Given the description of an element on the screen output the (x, y) to click on. 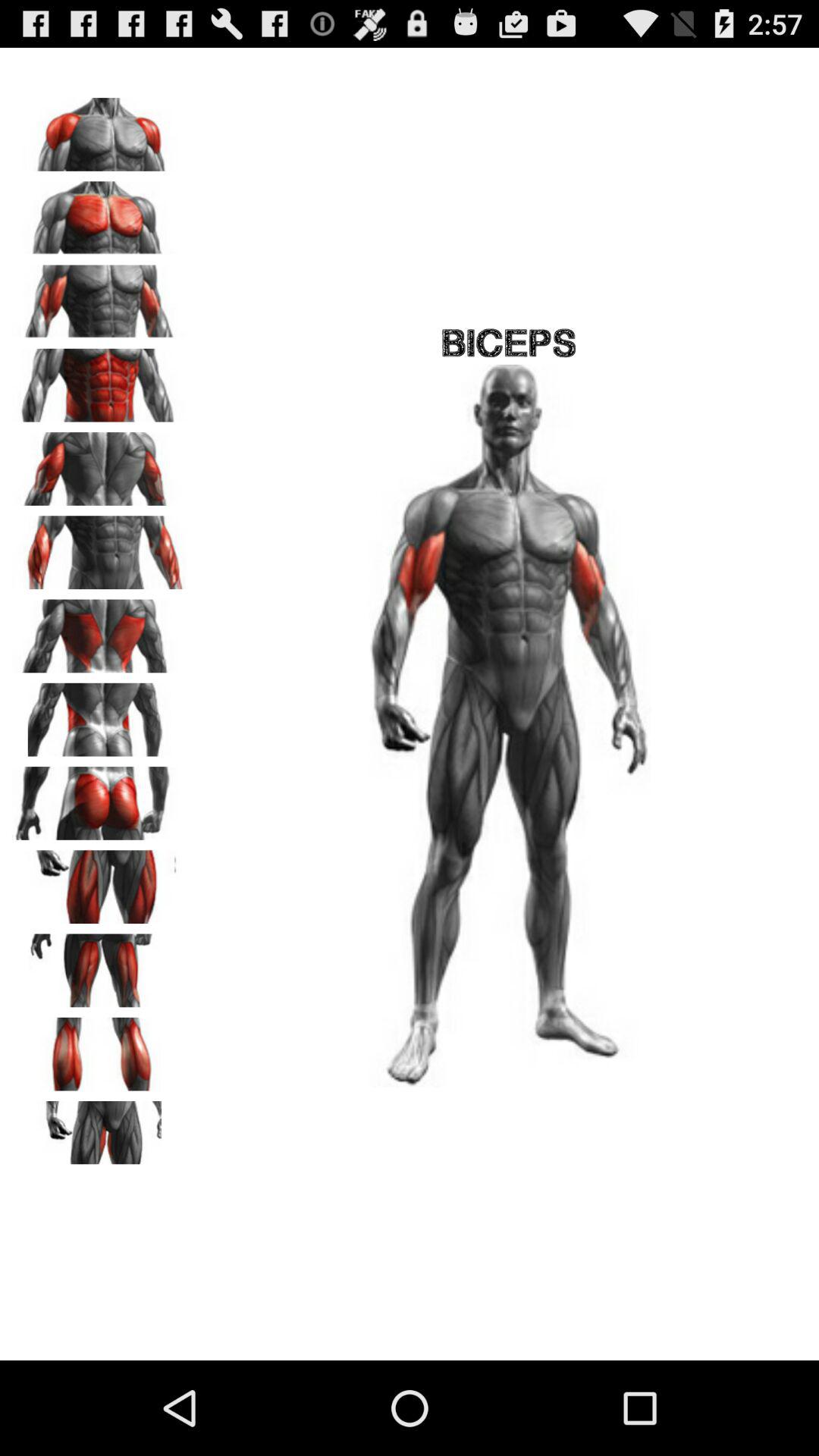
target muscle group to work on (99, 380)
